Given the description of an element on the screen output the (x, y) to click on. 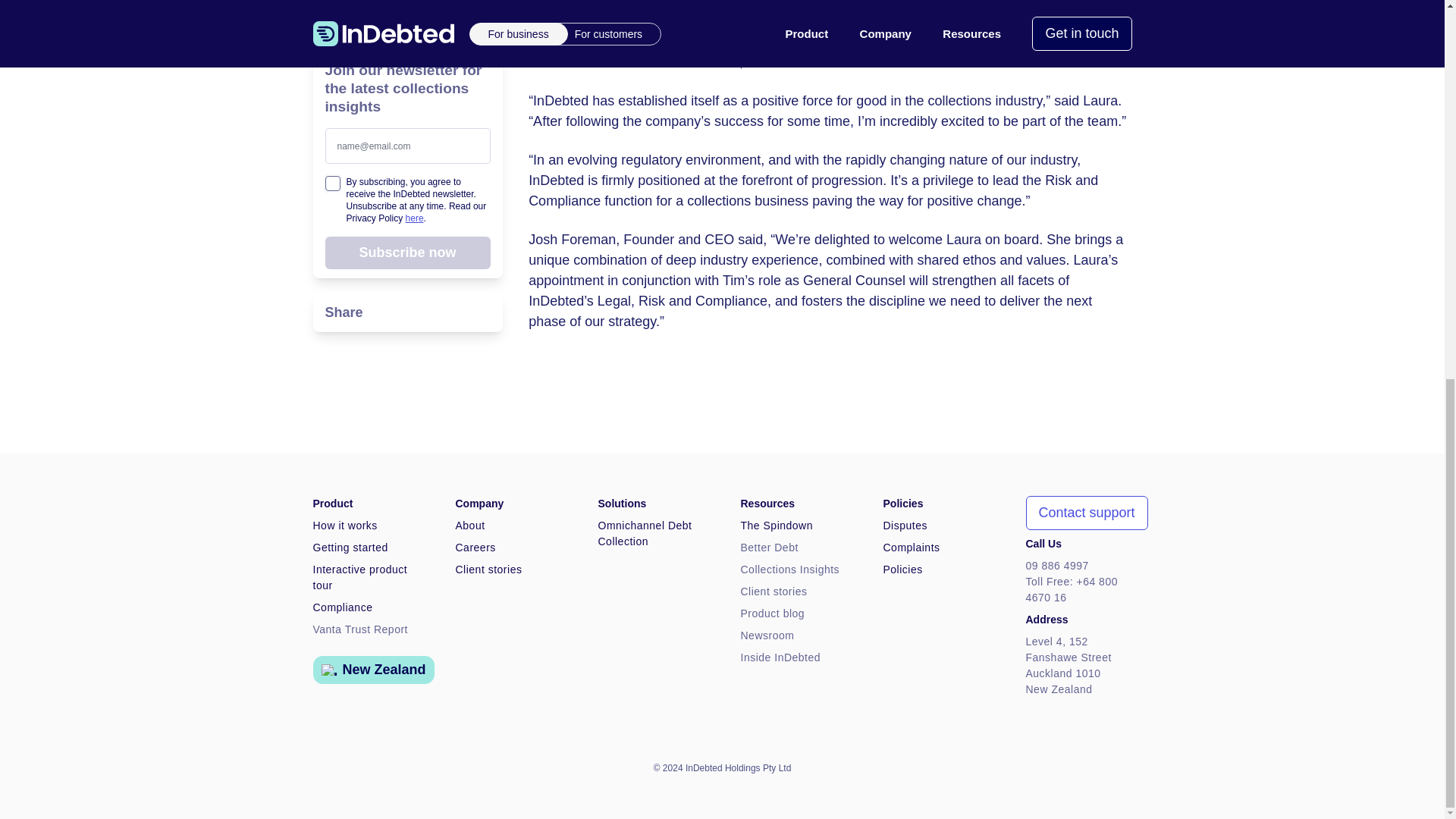
Go to the InDebted home page (321, 767)
Our Twitter (1091, 767)
Our LinkedIn (1122, 767)
